Given the description of an element on the screen output the (x, y) to click on. 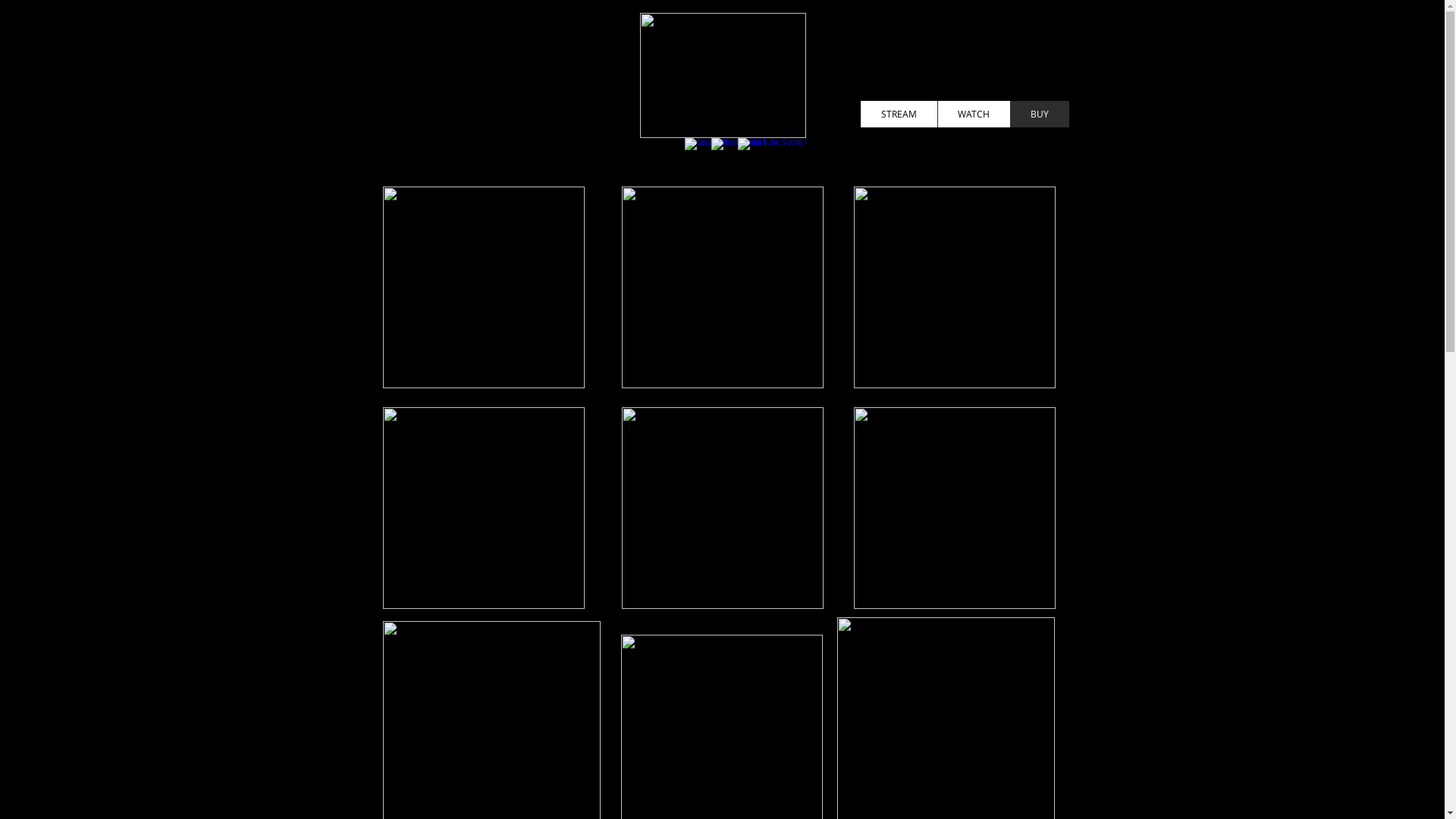
WATCH Element type: text (973, 113)
BUY Element type: text (1039, 113)
STREAM Element type: text (897, 113)
